Given the description of an element on the screen output the (x, y) to click on. 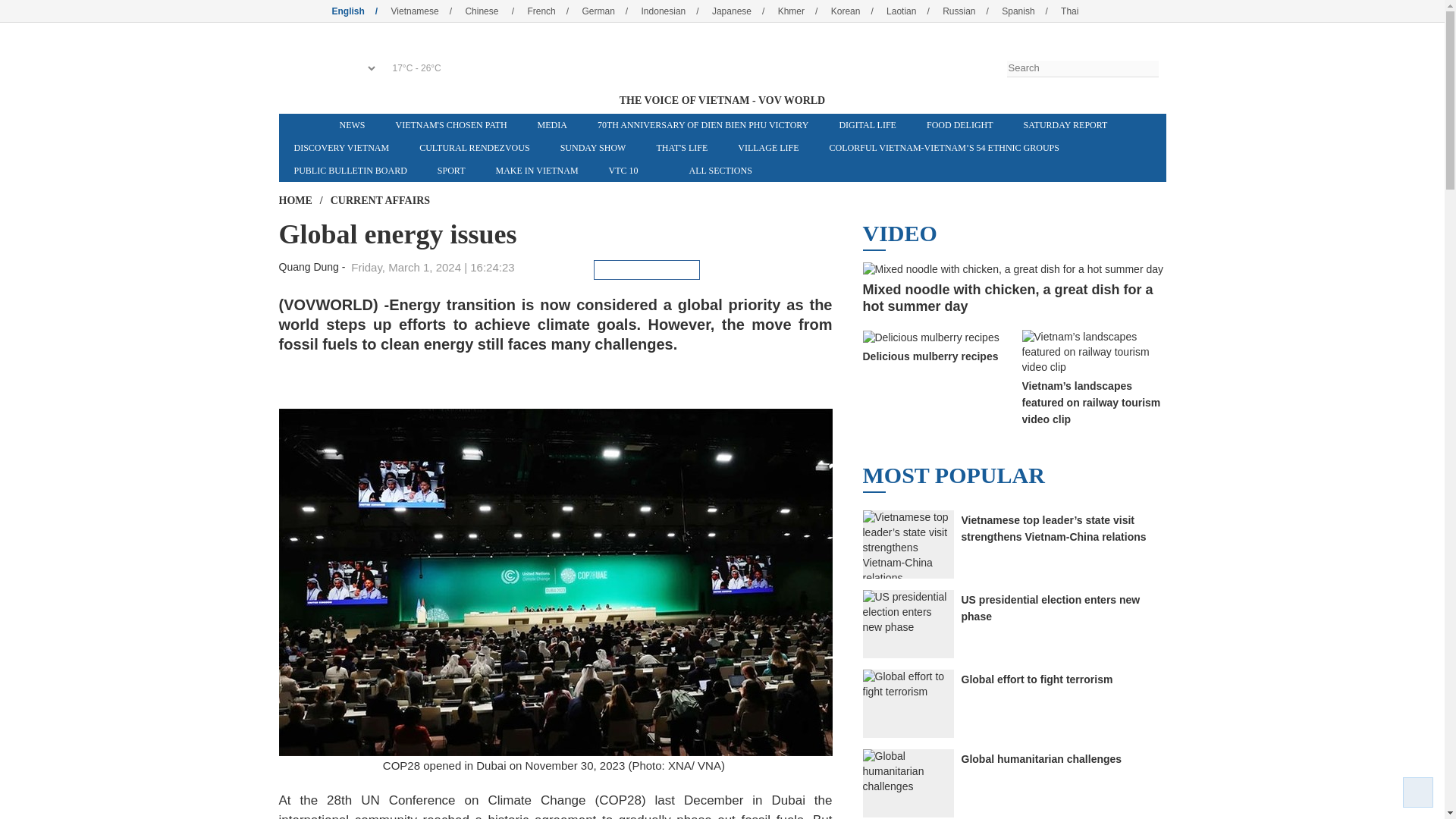
German (609, 10)
THE VOICE OF VIETNAM - VOV WORLD (721, 59)
SUNDAY SHOW (593, 147)
Discovery Vietnam (341, 147)
MAKE IN VIETNAM (536, 169)
Public bulletin board (350, 169)
Sunday Show (593, 147)
FOOD DELIGHT (960, 124)
Laotian (913, 10)
VILLAGE LIFE (767, 147)
